Given the description of an element on the screen output the (x, y) to click on. 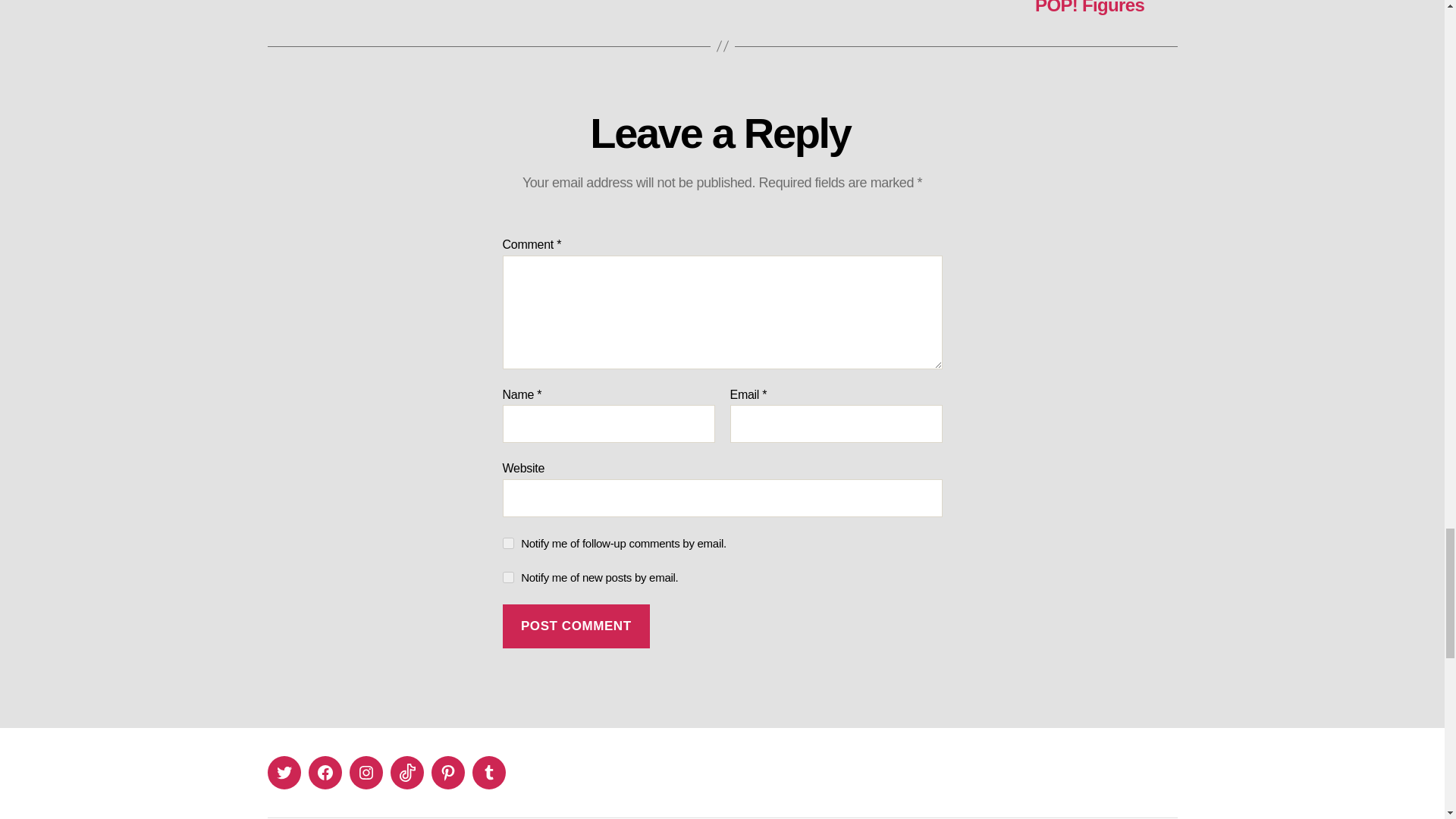
subscribe (507, 577)
Post Comment (575, 626)
subscribe (507, 542)
